Given the description of an element on the screen output the (x, y) to click on. 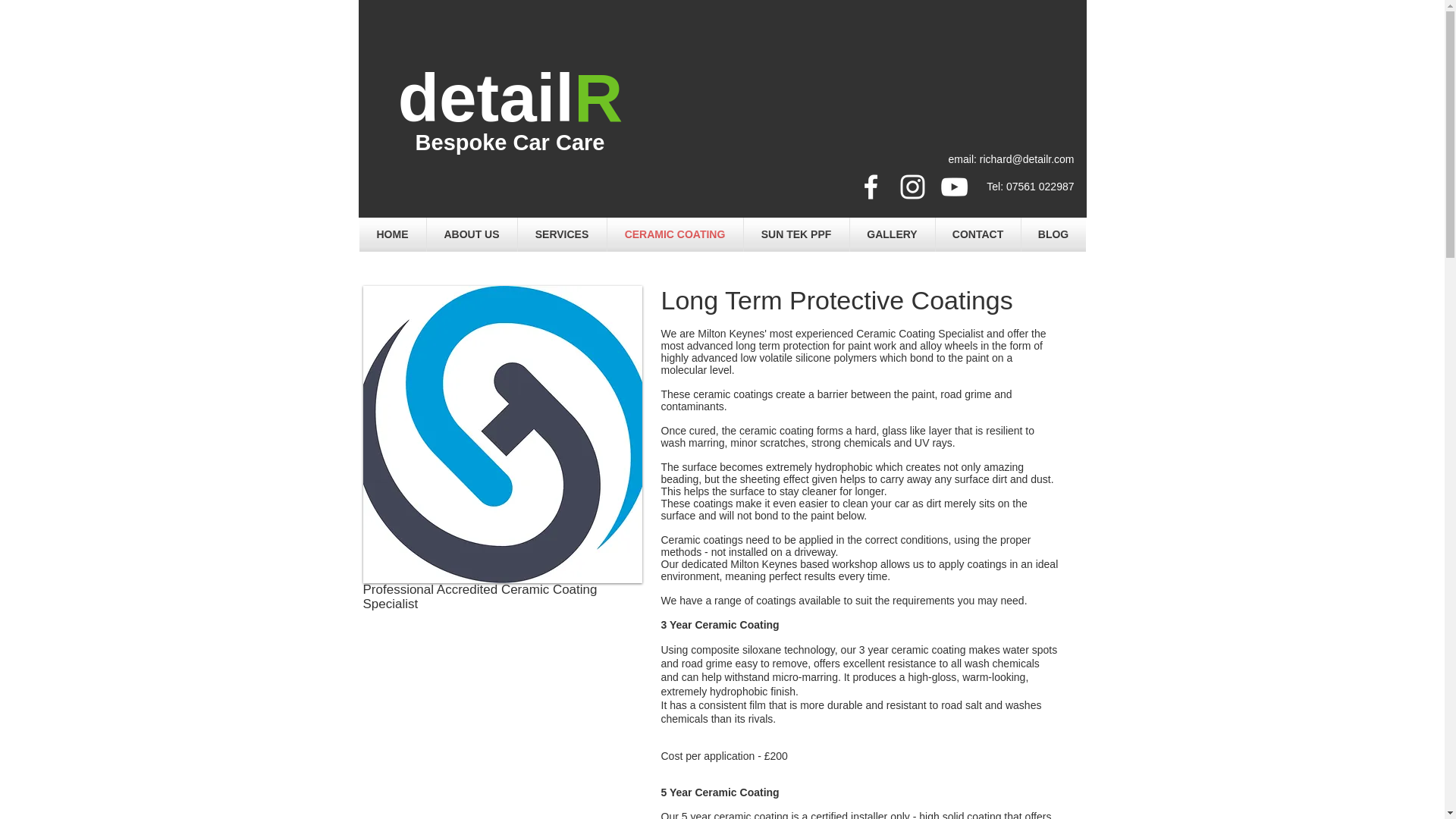
CONTACT (978, 234)
ABOUT US (471, 234)
CERAMIC COATING (674, 234)
SERVICES (560, 234)
GALLERY (891, 234)
HOME (392, 234)
BLOG (1052, 234)
SUN TEK PPF (795, 234)
